Given the description of an element on the screen output the (x, y) to click on. 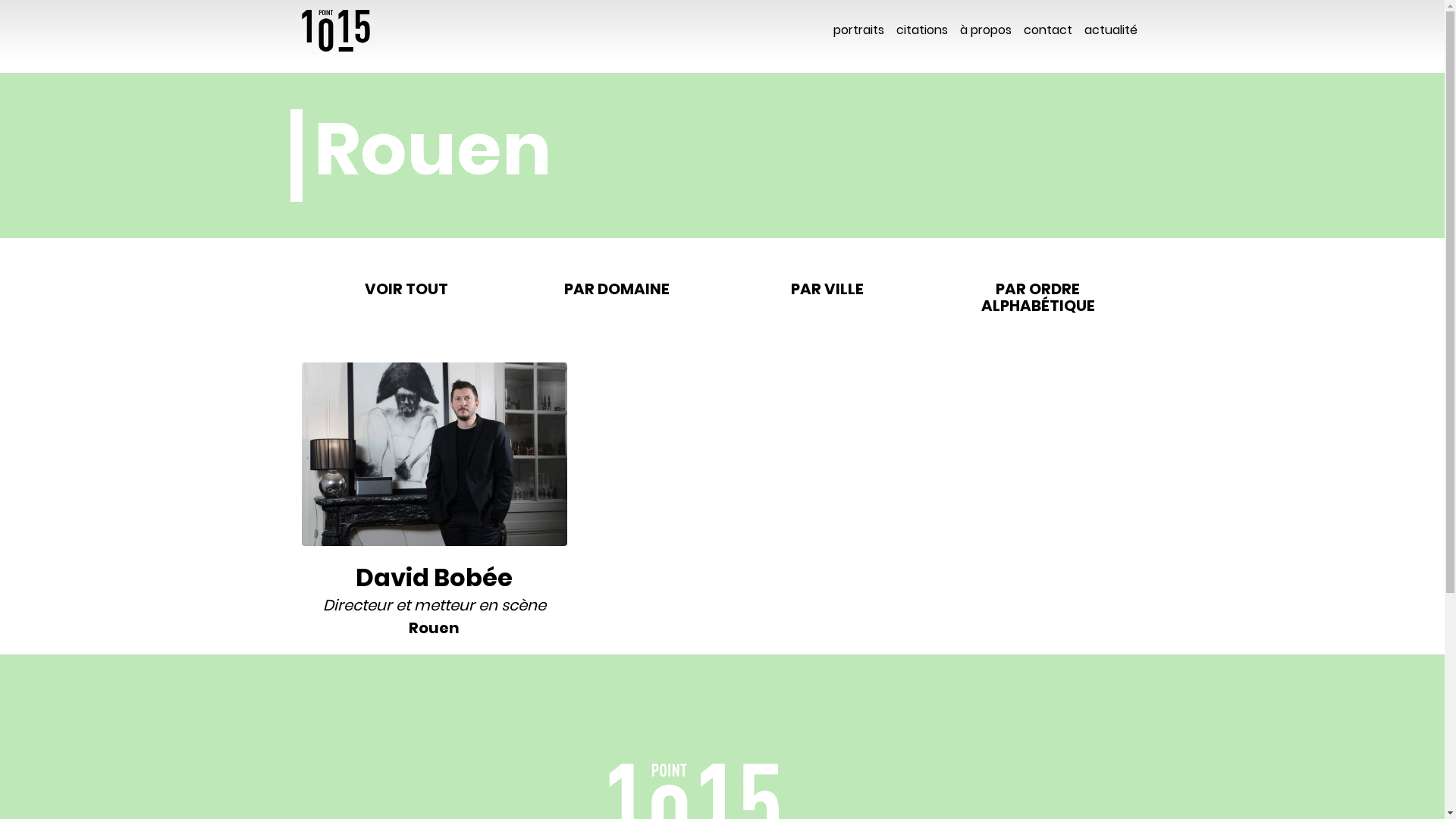
portraits Element type: text (857, 30)
citations Element type: text (921, 30)
PAR VILLE Element type: text (826, 288)
PAR DOMAINE Element type: text (616, 288)
Rouen Element type: text (433, 627)
VOIR TOUT Element type: text (406, 288)
contact Element type: text (1047, 30)
Directeur Element type: text (357, 604)
10point15 Element type: text (335, 30)
